Given the description of an element on the screen output the (x, y) to click on. 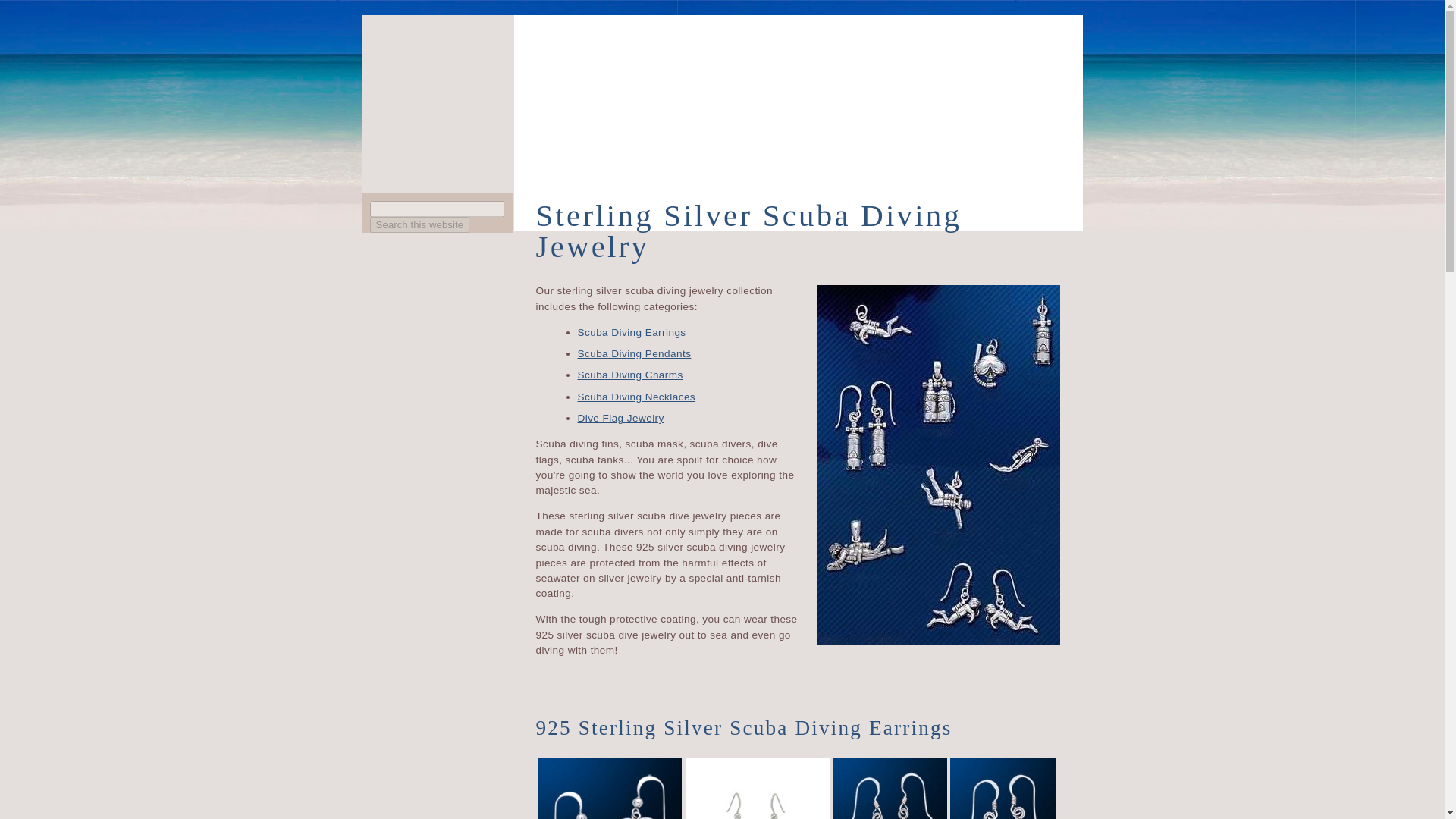
Scuba Diving Charms (630, 374)
Scuba Diving Necklaces (636, 396)
Dive Flag Jewelry (620, 418)
click to view all Sterling Silver Scuba Diving Pendants (634, 353)
Search this website (419, 224)
Scuba Diving Earrings (631, 332)
click to view all Sterling Silver Scuba Diving Charms (630, 374)
click to view all Sterling Silver Scuba Diving Earrings (631, 332)
Scuba Diving Pendants (634, 353)
Search this website (419, 224)
